Given the description of an element on the screen output the (x, y) to click on. 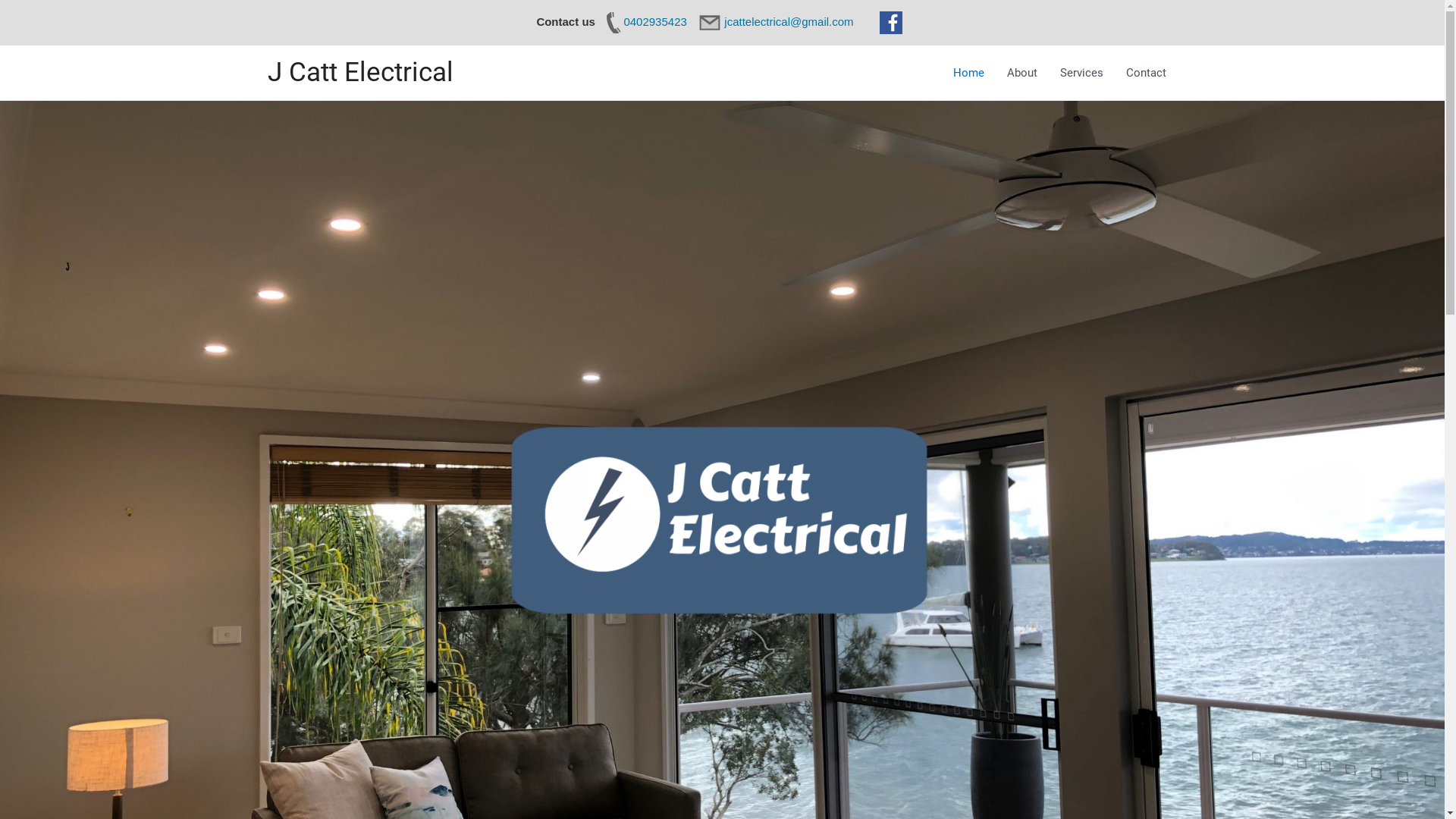
Services Element type: text (1080, 72)
Contact Element type: text (1145, 72)
0402935423 Element type: text (643, 21)
jcattelectrical@gmail.com Element type: text (777, 21)
About Element type: text (1021, 72)
Home Element type: text (968, 72)
J Catt Electrical Element type: text (359, 71)
Facebook Element type: hover (890, 22)
